Given the description of an element on the screen output the (x, y) to click on. 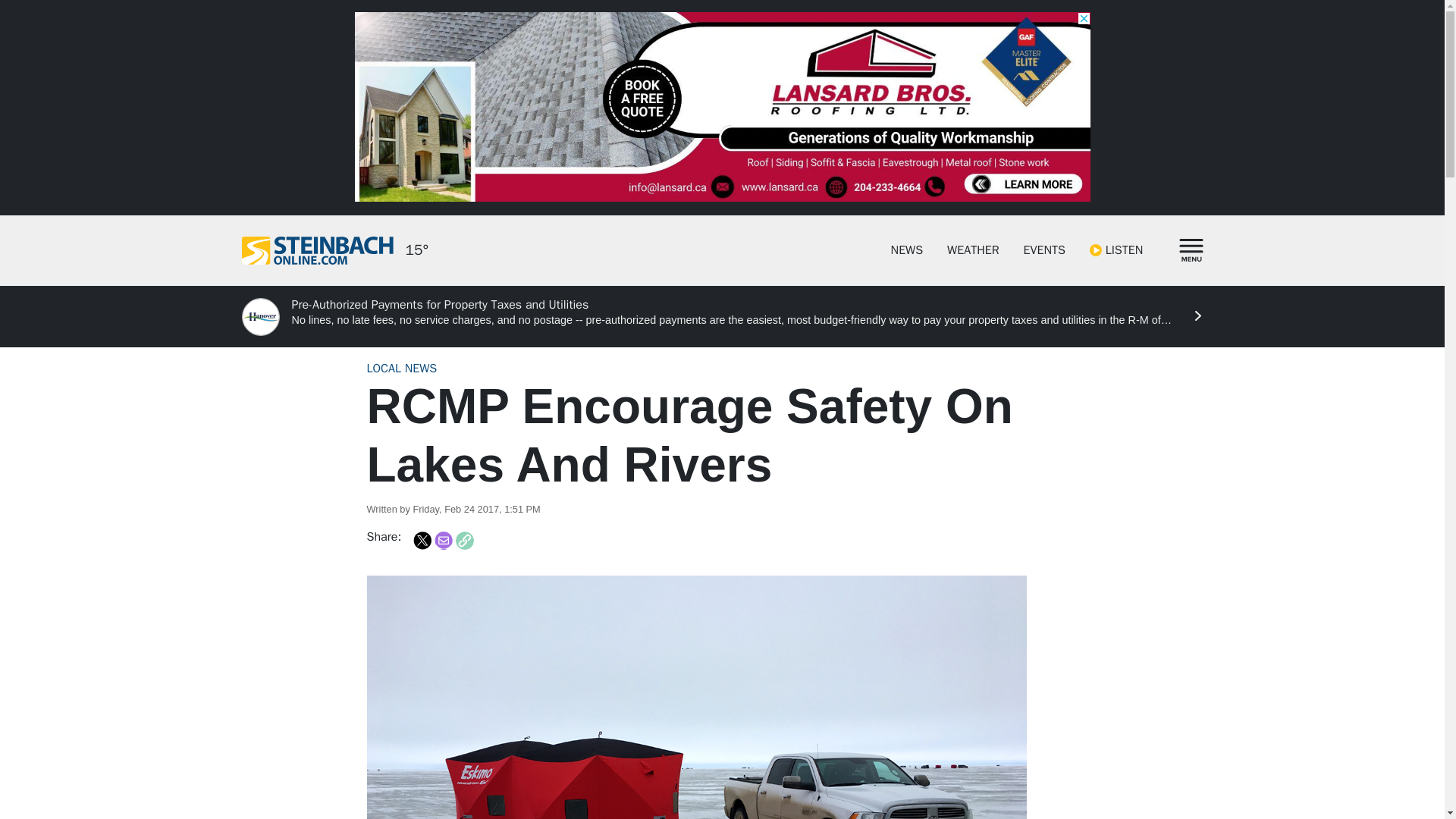
Copy Link (464, 540)
Share to Email (442, 540)
